Given the description of an element on the screen output the (x, y) to click on. 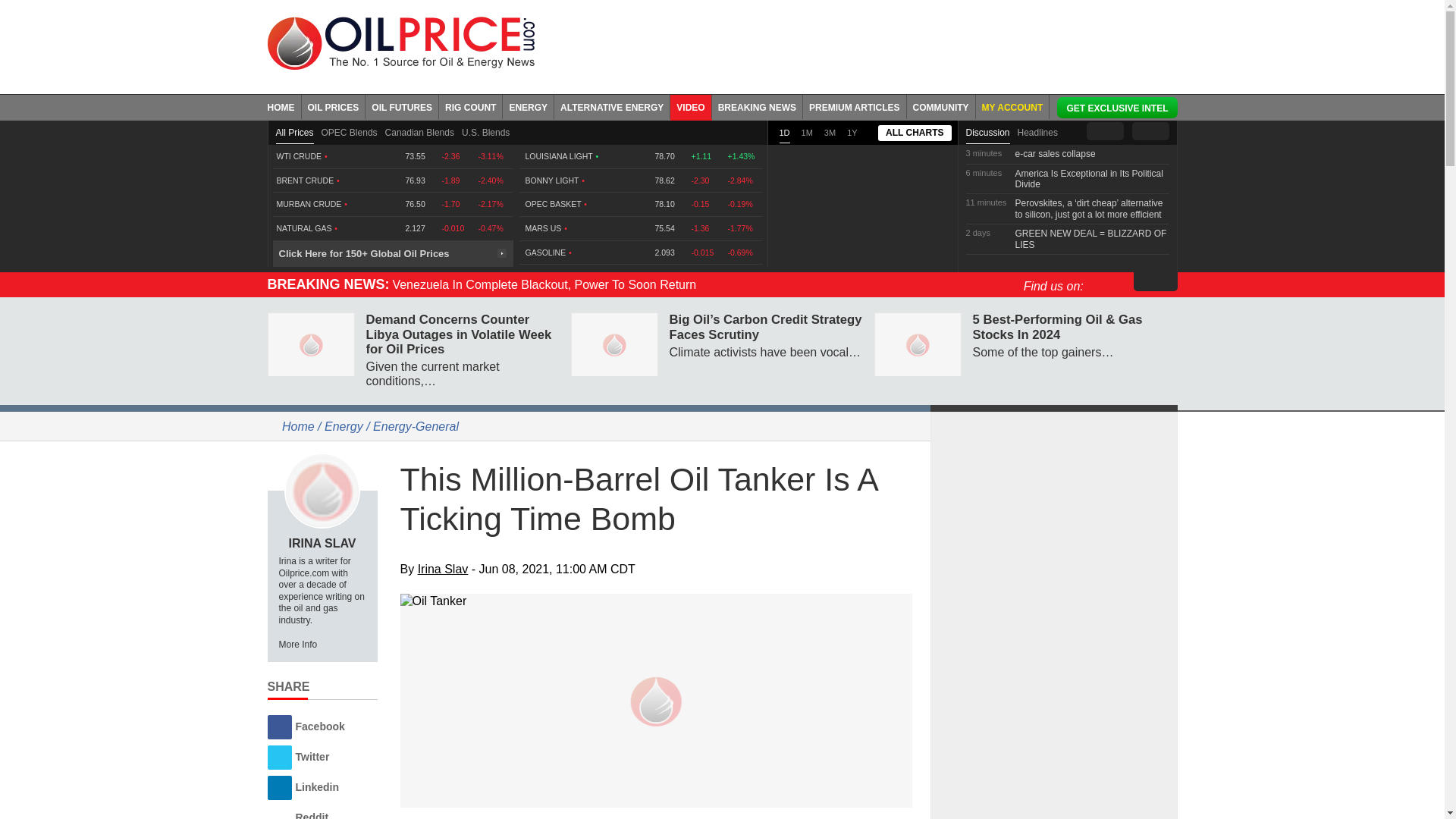
PREMIUM ARTICLES (855, 106)
Oil prices - Oilprice.com (400, 42)
VIDEO (690, 106)
RIG COUNT (470, 106)
ENERGY (528, 106)
ALTERNATIVE ENERGY (611, 106)
HOME (283, 106)
OIL FUTURES (402, 106)
OIL PRICES (333, 106)
MY ACCOUNT (1012, 106)
